Given the description of an element on the screen output the (x, y) to click on. 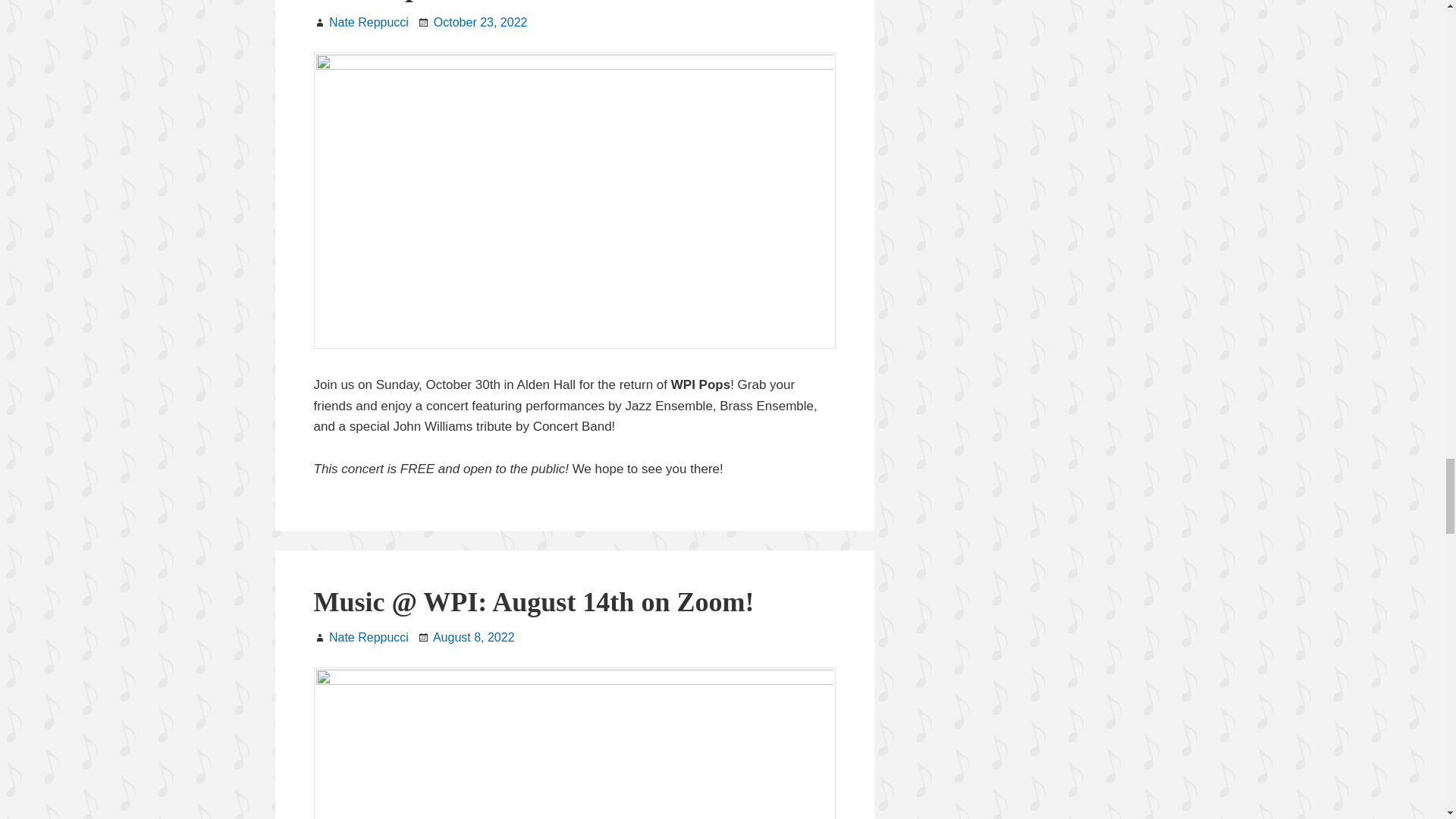
October 23, 2022 (480, 21)
Nate Reppucci (369, 21)
WPI Pops is back! (421, 1)
Nate Reppucci (369, 636)
August 8, 2022 (473, 636)
